Given the description of an element on the screen output the (x, y) to click on. 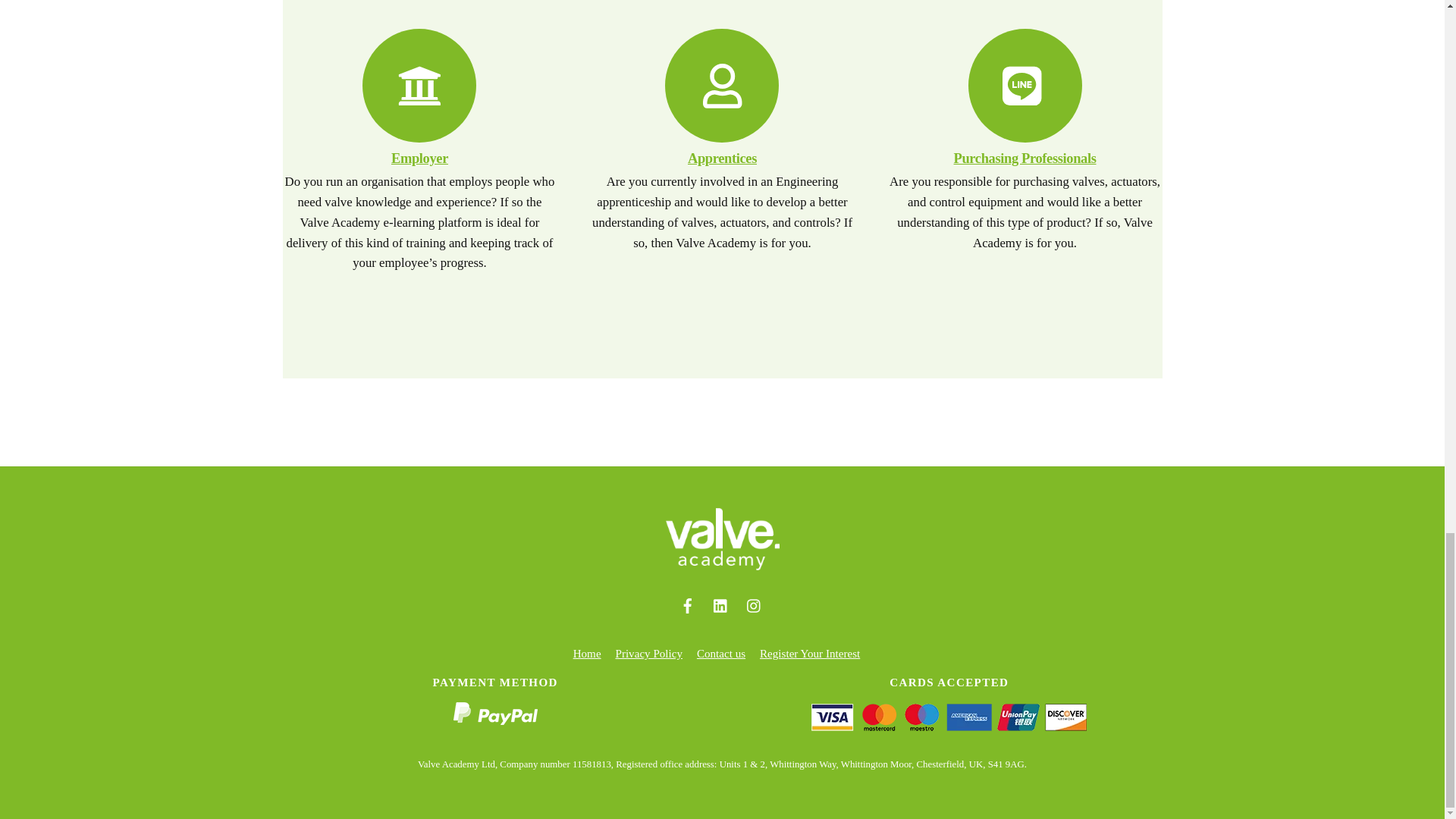
Privacy Policy (648, 653)
Register Your Interest (810, 653)
Valve Academy (721, 538)
Purchasing Professionals (1024, 158)
Contact us (721, 653)
Home (587, 653)
Employer (419, 158)
Payements Accepted (948, 716)
Valve Academy (721, 564)
Apprentices (722, 158)
